Given the description of an element on the screen output the (x, y) to click on. 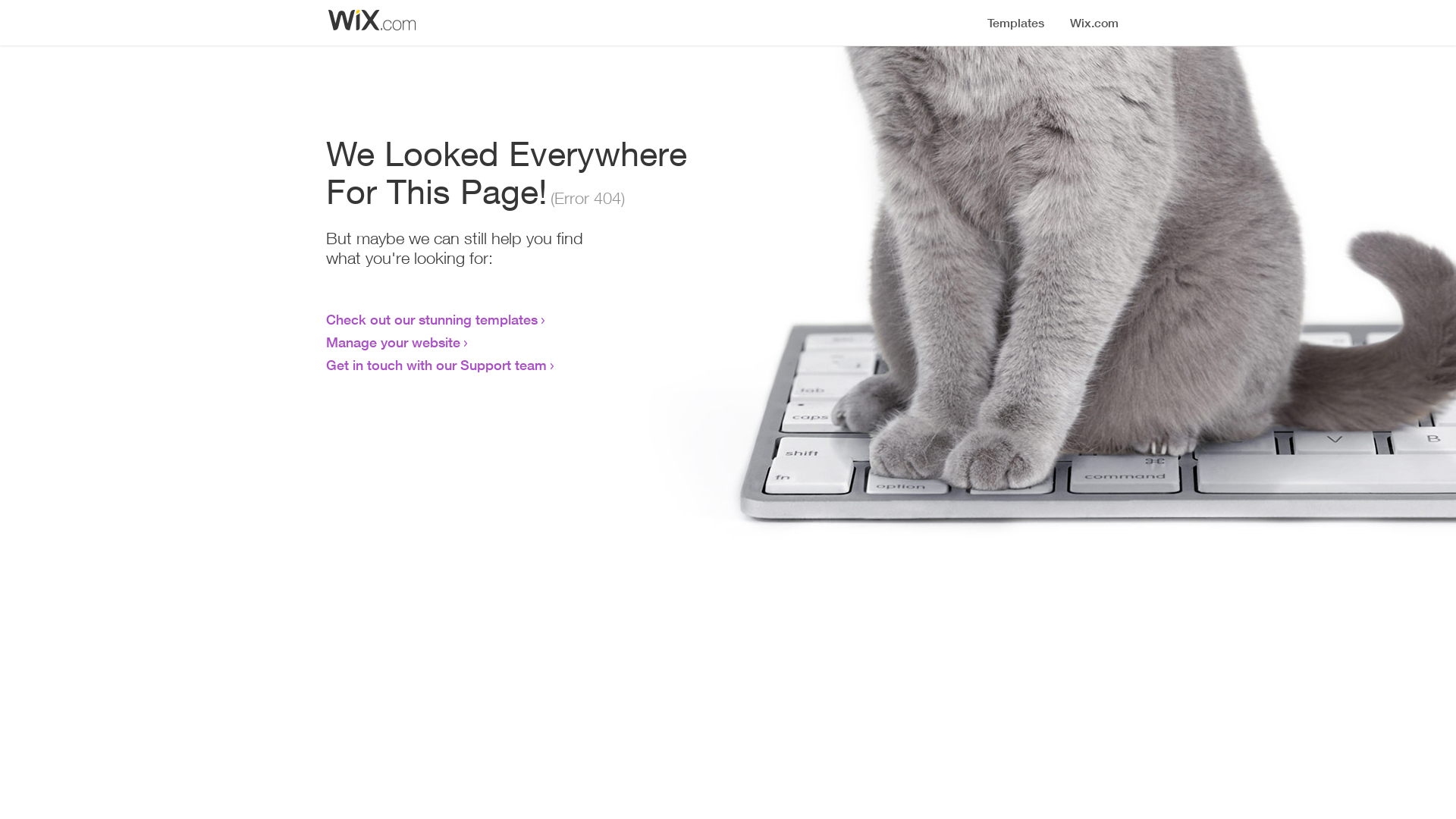
Manage your website Element type: text (393, 341)
Check out our stunning templates Element type: text (431, 318)
Get in touch with our Support team Element type: text (436, 364)
